Given the description of an element on the screen output the (x, y) to click on. 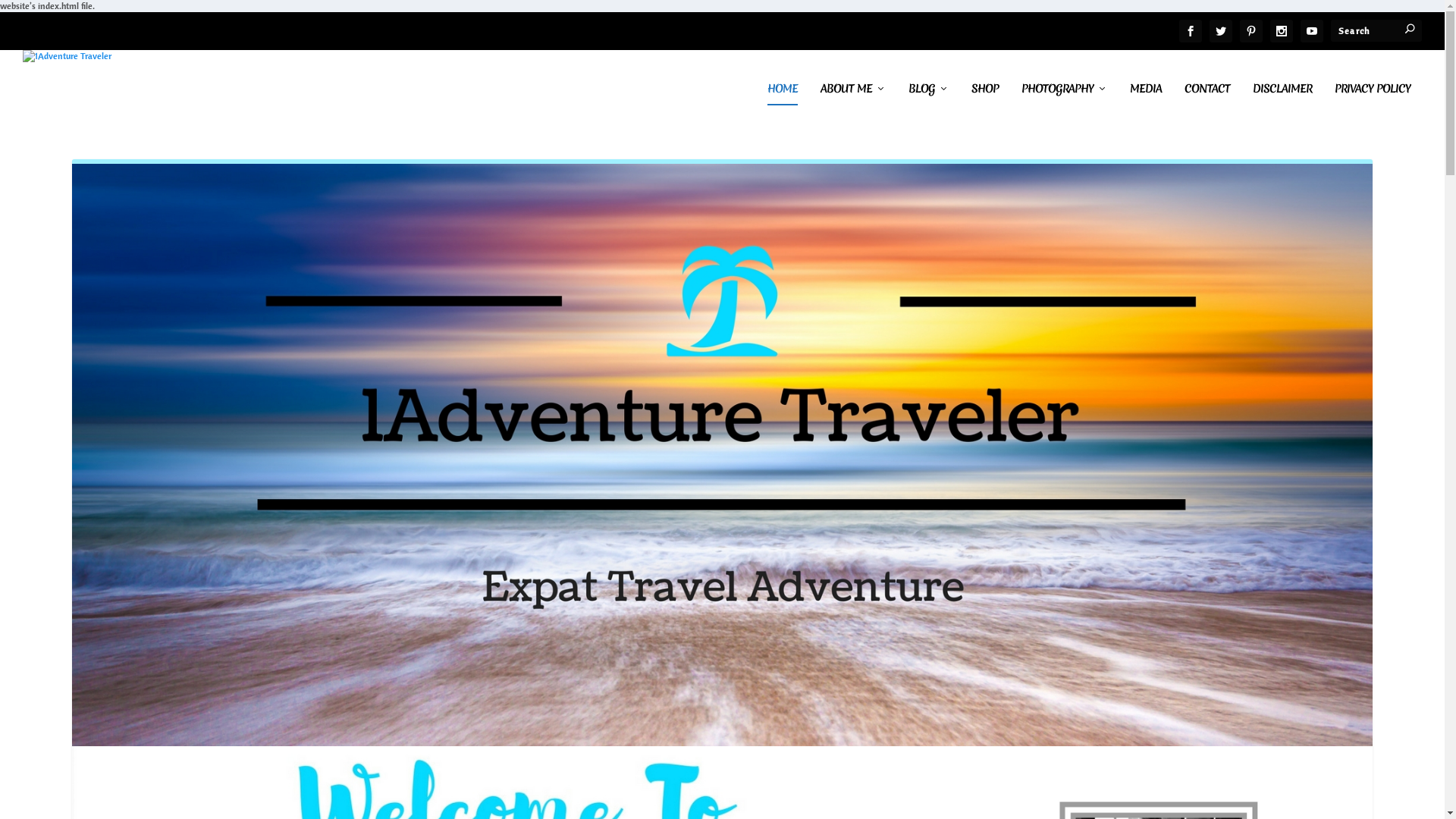
DISCLAIMER Element type: text (1281, 105)
ABOUT ME Element type: text (852, 105)
SHOP Element type: text (984, 105)
HOME Element type: text (782, 105)
PHOTOGRAPHY Element type: text (1064, 105)
MEDIA Element type: text (1145, 105)
CONTACT Element type: text (1207, 105)
PRIVACY POLICY Element type: text (1372, 105)
Search Element type: text (39, 18)
Search for: Element type: hover (1375, 30)
BLOG Element type: text (928, 105)
